Given the description of an element on the screen output the (x, y) to click on. 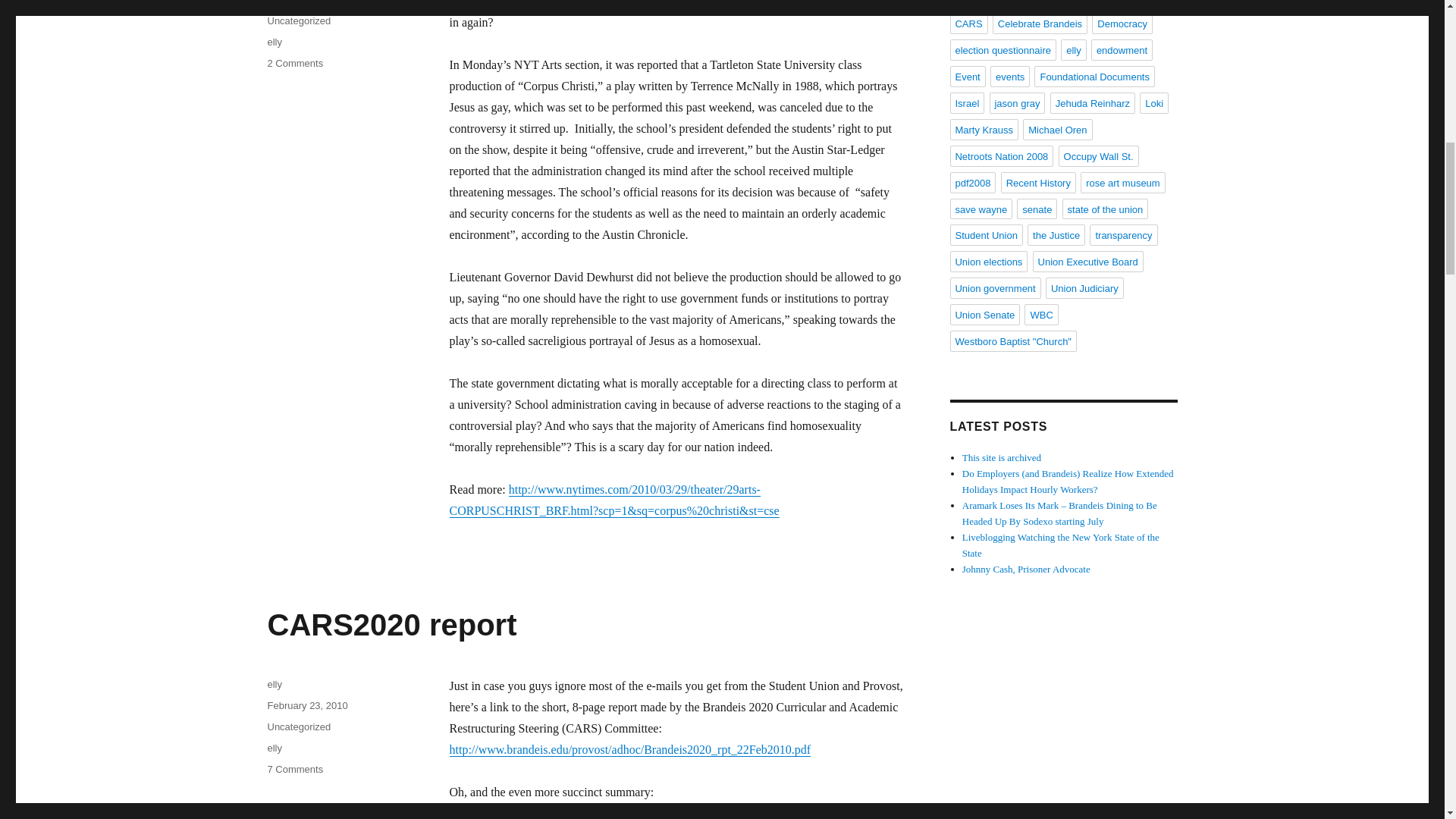
elly (274, 684)
March 30, 2010 (300, 2)
February 23, 2010 (294, 768)
CARS2020 report (306, 705)
elly (391, 624)
Uncategorized (274, 41)
Uncategorized (298, 20)
elly (298, 726)
